Given the description of an element on the screen output the (x, y) to click on. 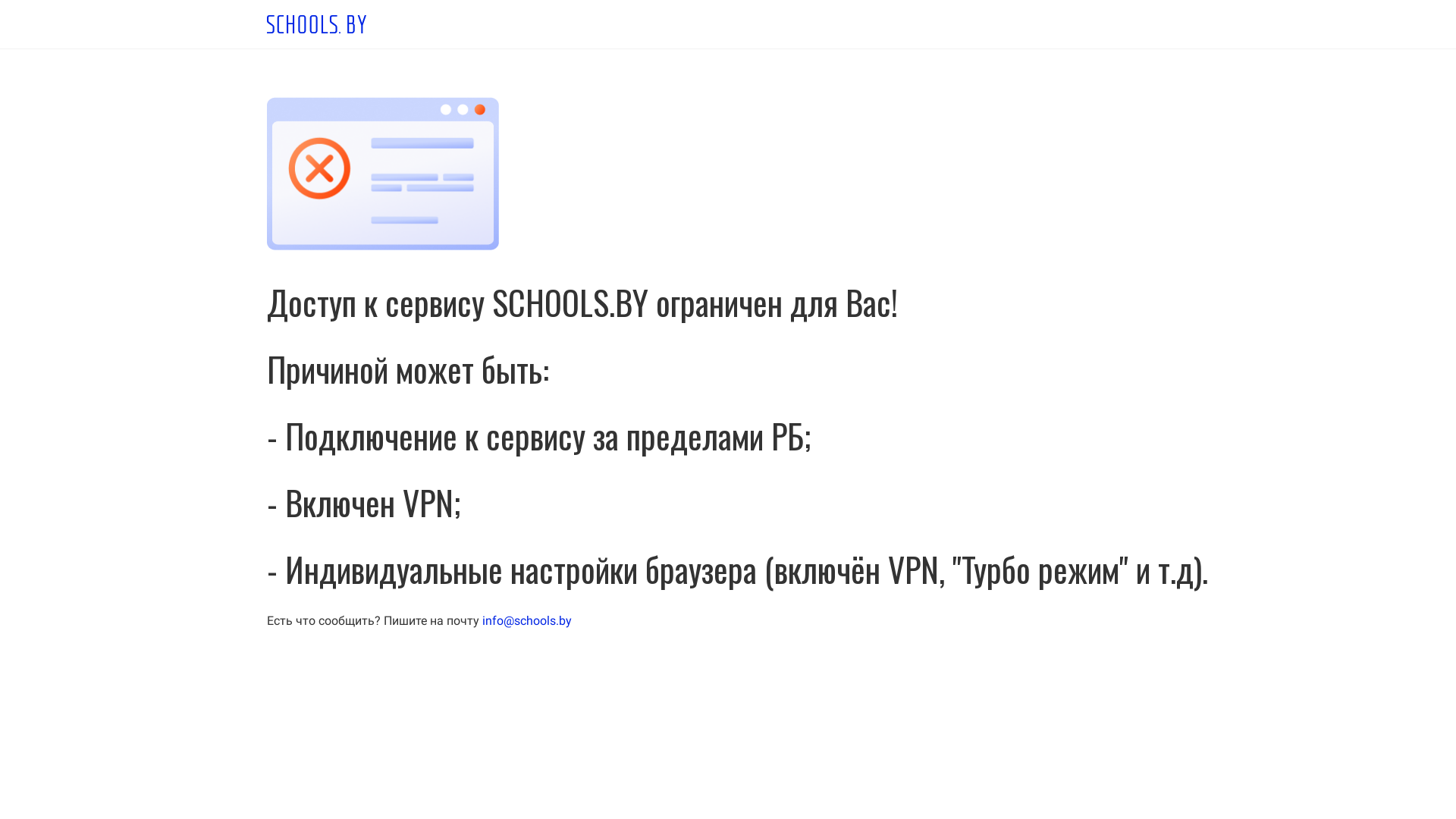
info@schools.by Element type: text (526, 620)
